Given the description of an element on the screen output the (x, y) to click on. 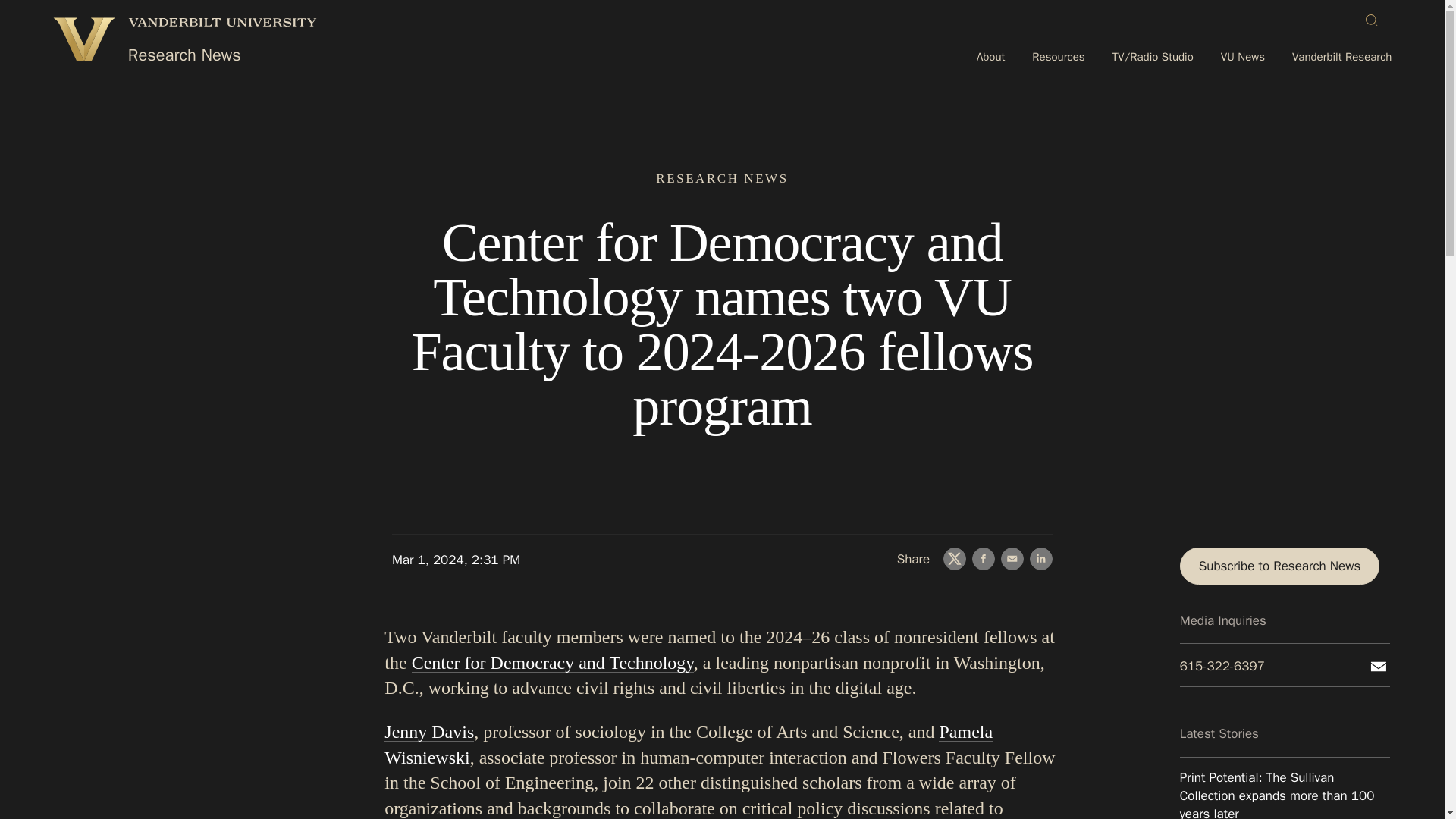
Subscribe to Research News (1279, 565)
VU News (1243, 57)
Facebook (983, 558)
Center for Democracy and Technology (553, 662)
About (990, 57)
Pamela Wisniewski (688, 744)
LinkedIn (1040, 558)
Vanderbilt University (222, 21)
Email (1012, 558)
Email (1378, 666)
Twitter (954, 558)
Vanderbilt Research (1341, 57)
Jenny Davis (429, 731)
Research News (184, 55)
